Given the description of an element on the screen output the (x, y) to click on. 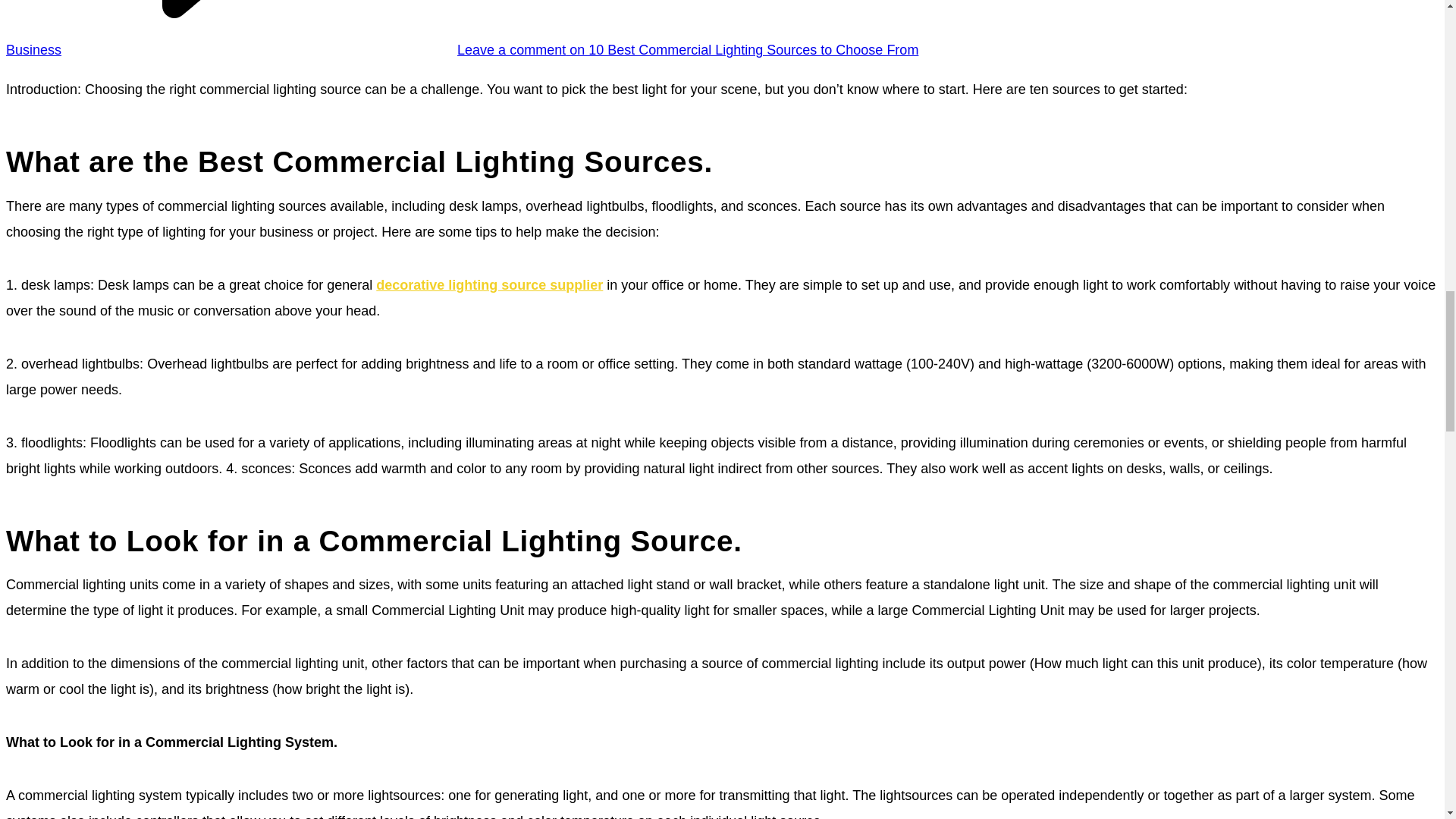
Business (33, 49)
decorative lighting source supplier (488, 284)
